Given the description of an element on the screen output the (x, y) to click on. 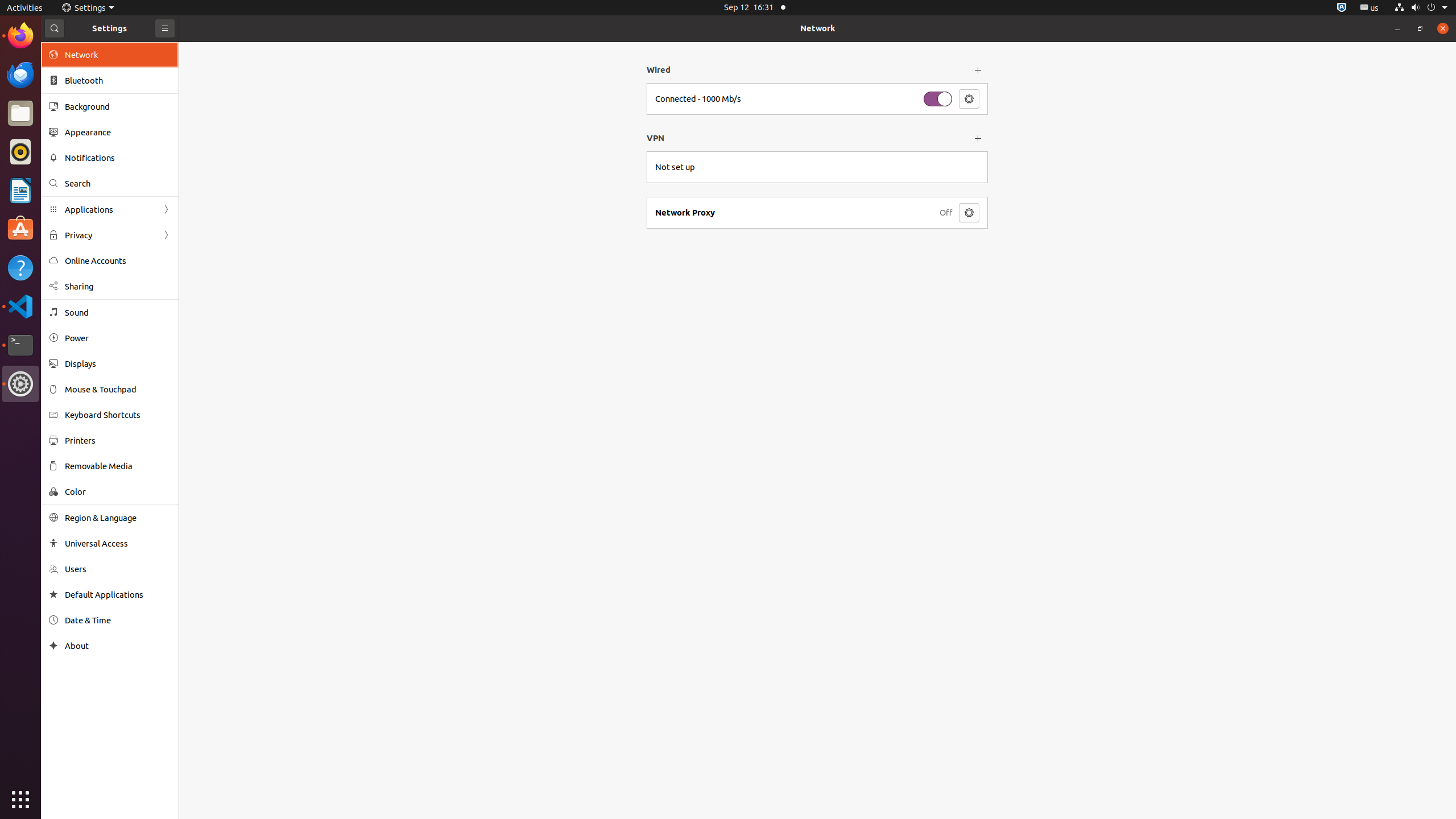
Settings Element type: push-button (20, 383)
Keyboard Shortcuts Element type: label (117, 414)
Privacy Element type: label (109, 235)
About Element type: label (117, 645)
Applications Element type: label (109, 209)
